Given the description of an element on the screen output the (x, y) to click on. 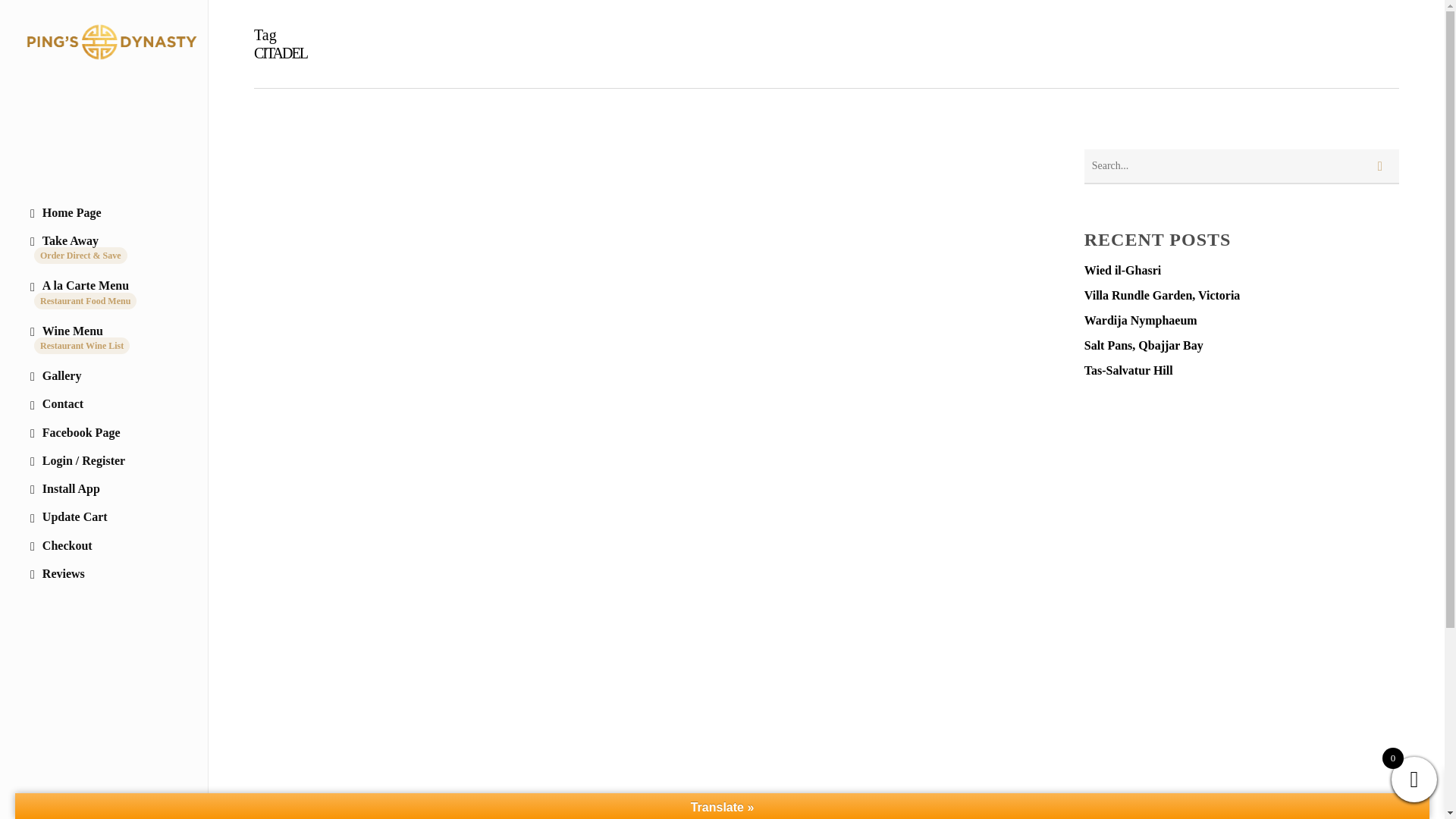
Facebook Page (103, 432)
Reviews (103, 574)
Checkout (103, 546)
Search for: (1241, 166)
Wine MenuRestaurant Wine List (103, 339)
A la Carte MenuRestaurant Food Menu (103, 293)
Contact (103, 404)
Home Page (103, 213)
Update Cart (103, 517)
Gallery (103, 376)
